Given the description of an element on the screen output the (x, y) to click on. 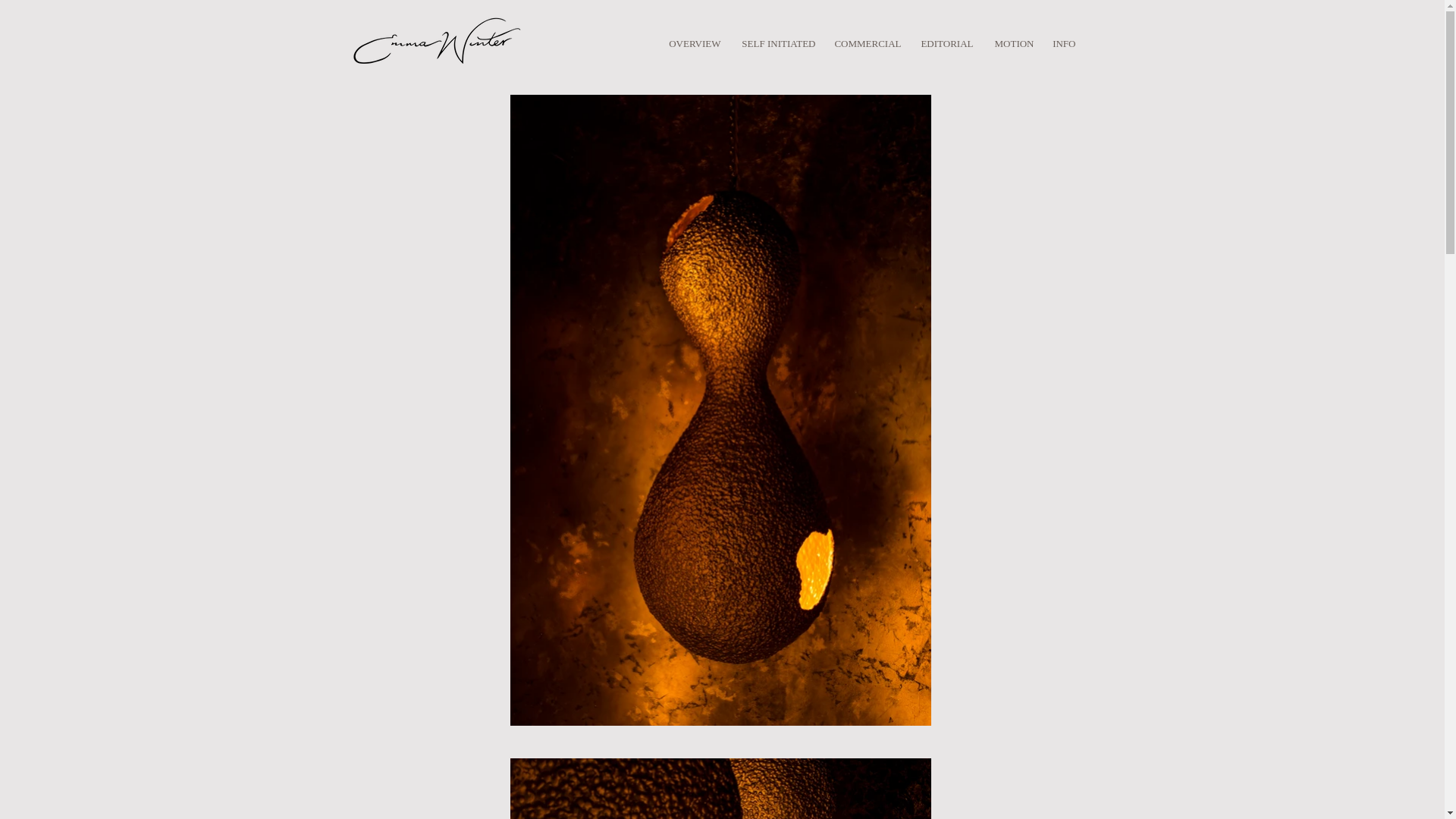
COMMERCIAL (866, 43)
INFO (1062, 43)
OVERVIEW (693, 43)
EDITORIAL (943, 43)
SELF INITIATED (775, 43)
MOTION (1011, 43)
